Given the description of an element on the screen output the (x, y) to click on. 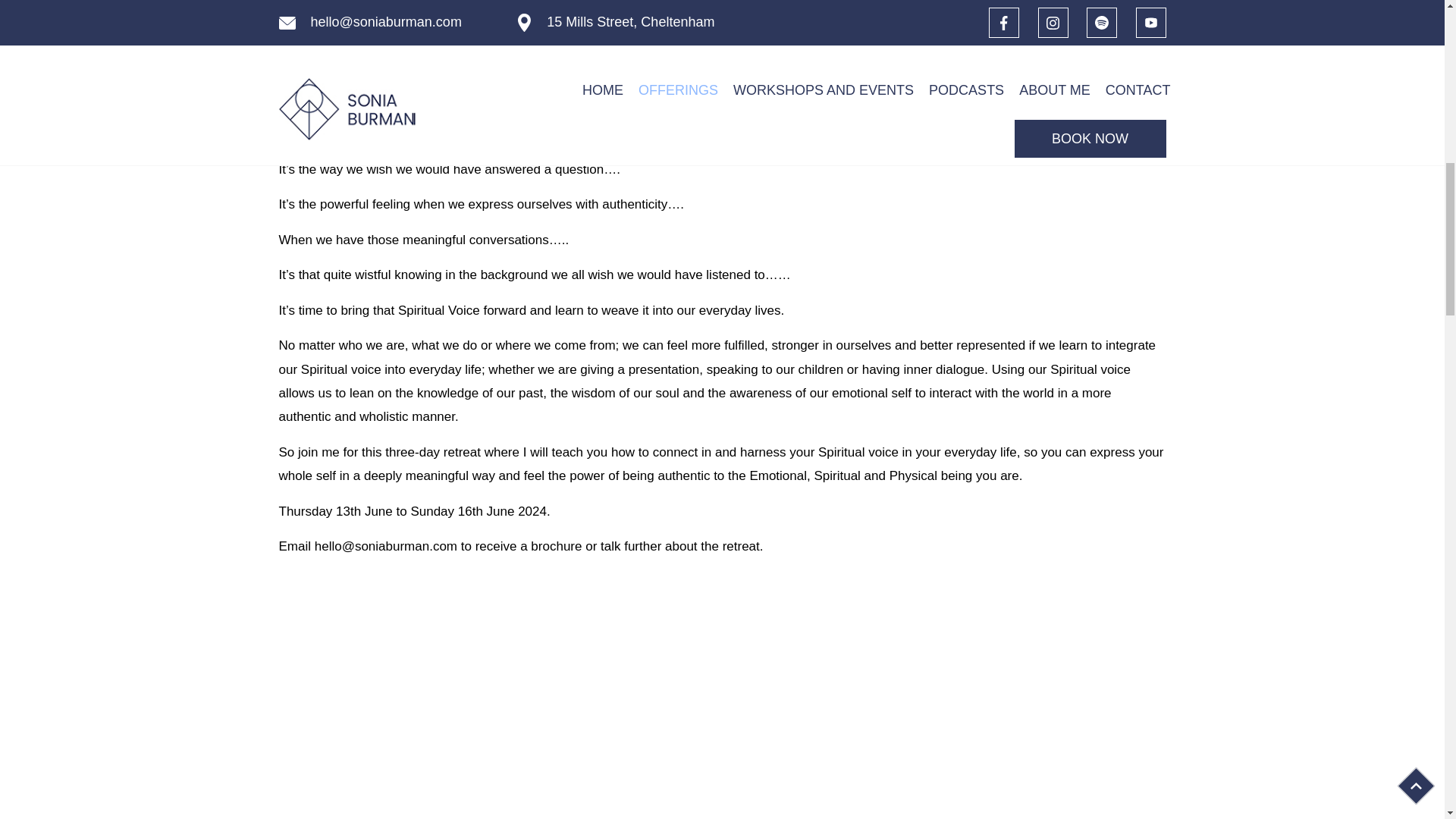
Play (298, 71)
Fullscreen (1146, 71)
Mute (1122, 71)
